Given the description of an element on the screen output the (x, y) to click on. 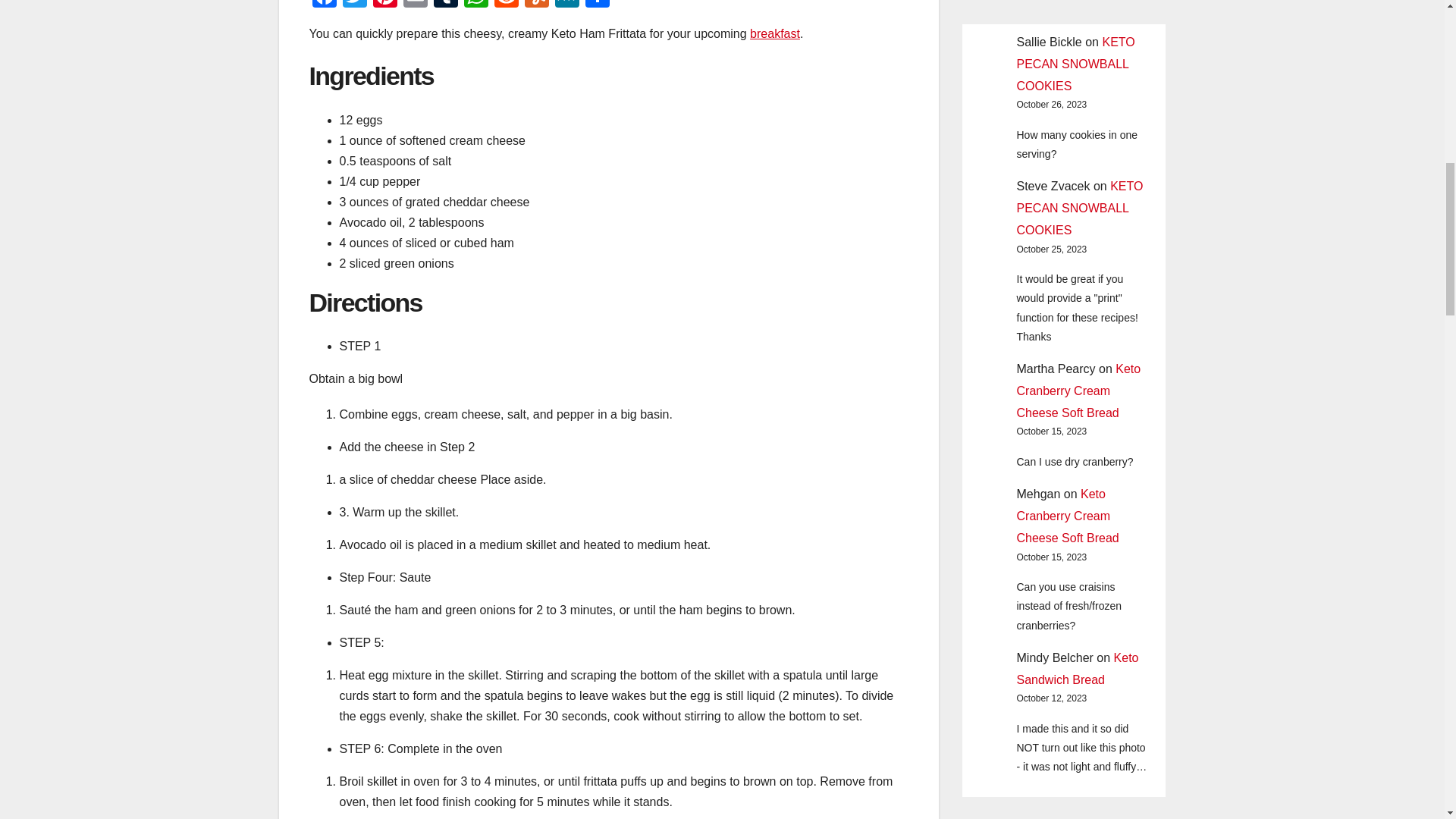
Yummly (536, 5)
Email (415, 5)
Tumblr (445, 5)
Reddit (506, 5)
Facebook (323, 5)
Reddit (506, 5)
breakfast (774, 33)
Pinterest (384, 5)
Facebook (323, 5)
Twitter (354, 5)
